Given the description of an element on the screen output the (x, y) to click on. 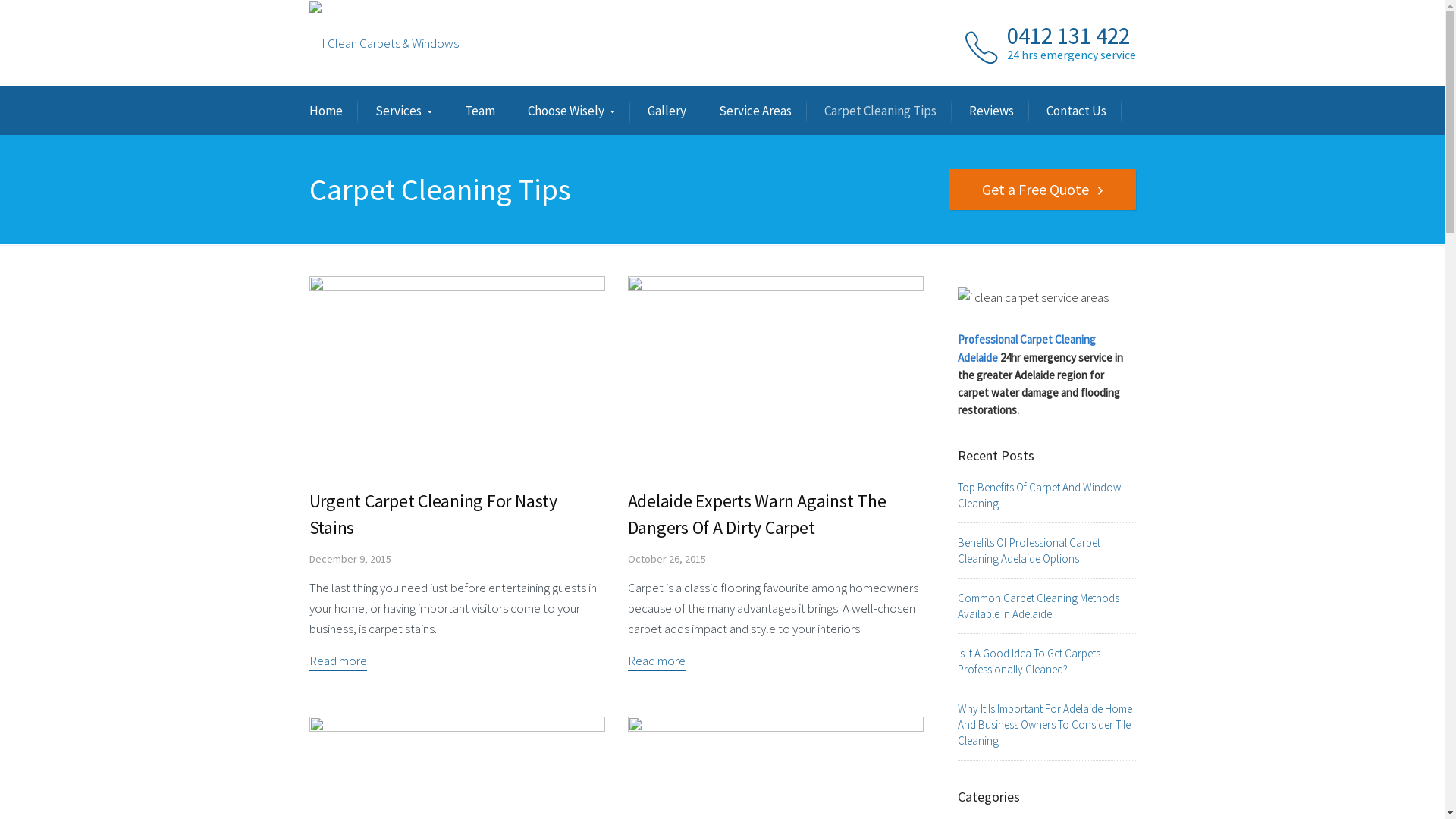
Is It A Good Idea To Get Carpets Professionally Cleaned? Element type: text (1028, 661)
24 hrs emergency service Element type: text (1071, 54)
Read more Element type: text (338, 661)
Gallery Element type: text (666, 110)
Benefits Of Professional Carpet Cleaning Adelaide Options Element type: text (1028, 550)
Service Areas Element type: text (754, 110)
Home Element type: text (325, 110)
Reviews Element type: text (991, 110)
Services Element type: text (402, 111)
Carpet Cleaning Tips Element type: text (879, 110)
Read more Element type: text (656, 661)
Urgent Carpet Cleaning For Nasty Stains Element type: hover (457, 373)
Team Element type: text (479, 110)
Adelaide Experts Warn Against The Dangers Of A Dirty Carpet Element type: hover (775, 373)
Top Benefits Of Carpet And Window Cleaning Element type: text (1038, 495)
Common Carpet Cleaning Methods Available In Adelaide Element type: text (1037, 605)
Urgent Carpet Cleaning For Nasty Stains Element type: text (433, 514)
Adelaide Experts Warn Against The Dangers Of A Dirty Carpet Element type: text (756, 514)
Contact Us Element type: text (1076, 110)
Choose Wisely Element type: text (571, 111)
Get a Free Quote Element type: text (1041, 189)
0412 131 422 Element type: text (1068, 35)
